Given the description of an element on the screen output the (x, y) to click on. 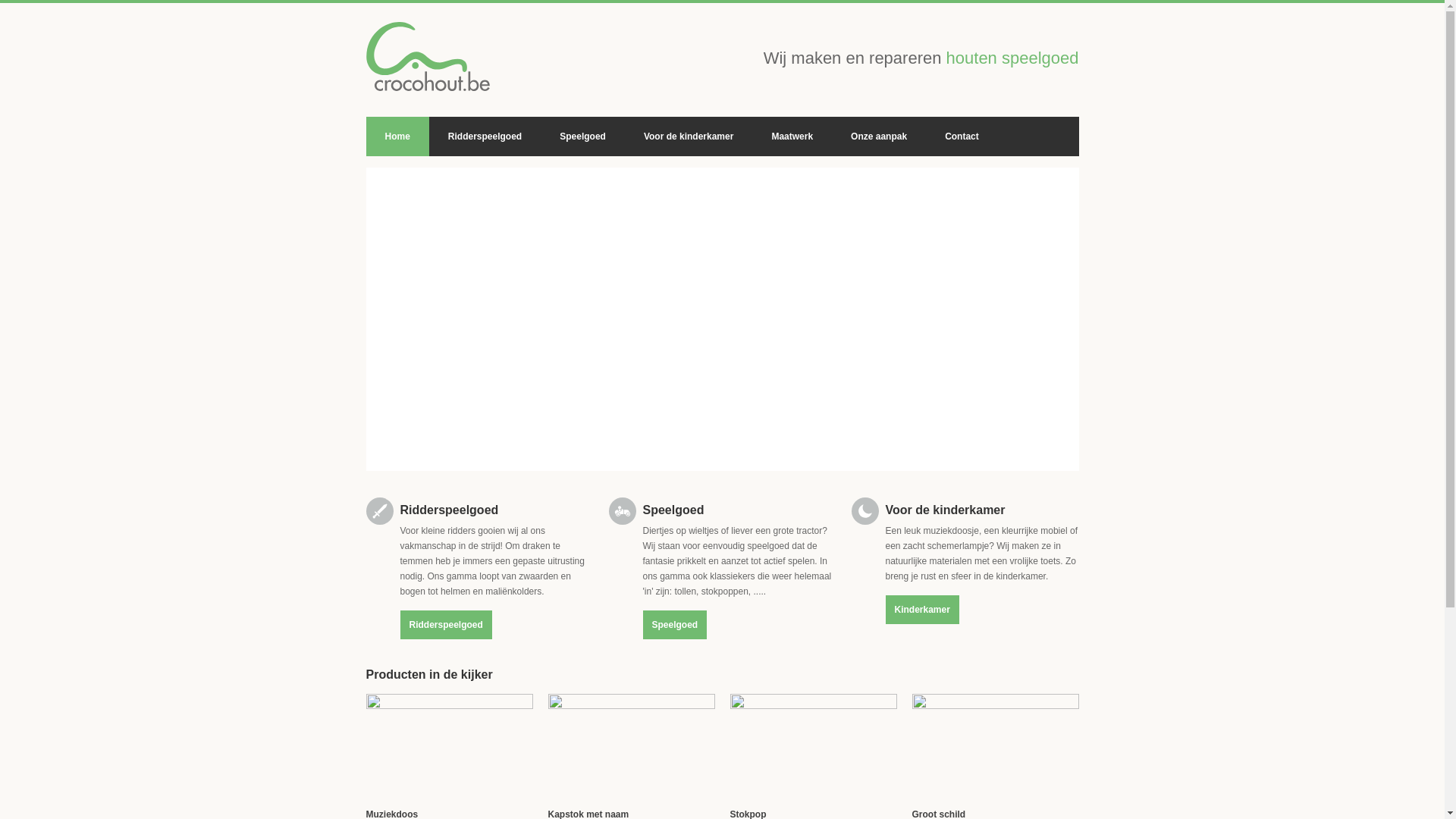
Contact Element type: text (961, 136)
Onze aanpak Element type: text (878, 136)
Voor de kinderkamer Element type: text (688, 136)
Maatwerk Element type: text (791, 136)
Home Element type: text (396, 136)
Ridderspeelgoed Element type: text (446, 624)
Speelgoed Element type: text (675, 624)
Overslaan en naar de inhoud gaan Element type: text (70, 3)
Ridderspeelgoed Element type: text (484, 136)
Crocohout Element type: text (427, 56)
Speelgoed Element type: text (582, 136)
Kinderkamer Element type: text (922, 609)
